Given the description of an element on the screen output the (x, y) to click on. 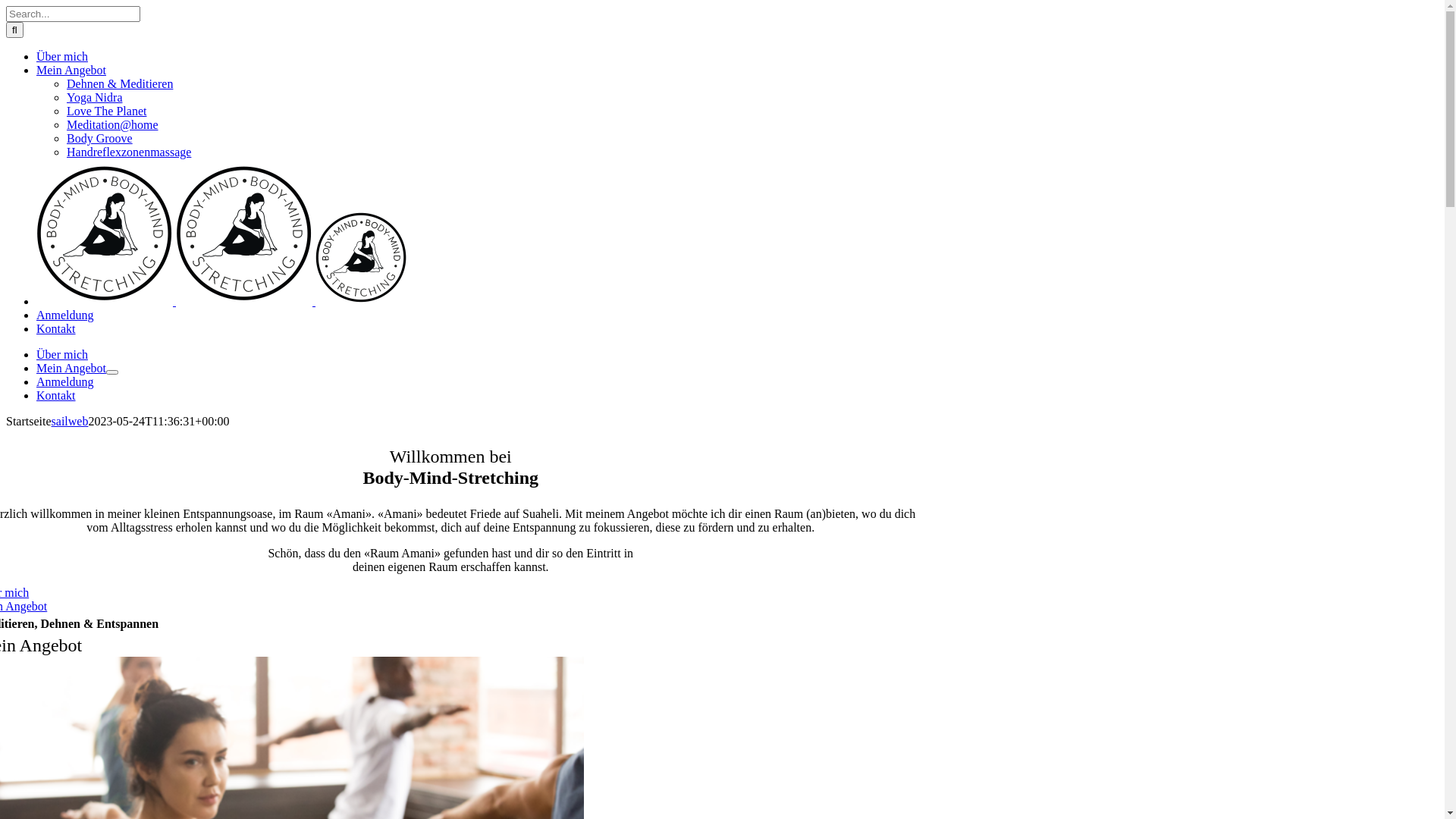
sailweb Element type: text (69, 420)
Body Groove Element type: text (99, 137)
Handreflexzonenmassage Element type: text (128, 151)
Mein Angebot Element type: text (71, 367)
Kontakt Element type: text (55, 328)
Meditation@home Element type: text (112, 124)
Kontakt Element type: text (55, 395)
Mein Angebot Element type: text (71, 69)
Yoga Nidra Element type: text (94, 97)
Love The Planet Element type: text (106, 110)
Dehnen & Meditieren Element type: text (119, 83)
Anmeldung Element type: text (65, 381)
Anmeldung Element type: text (65, 314)
Skip to content Element type: text (5, 5)
